Given the description of an element on the screen output the (x, y) to click on. 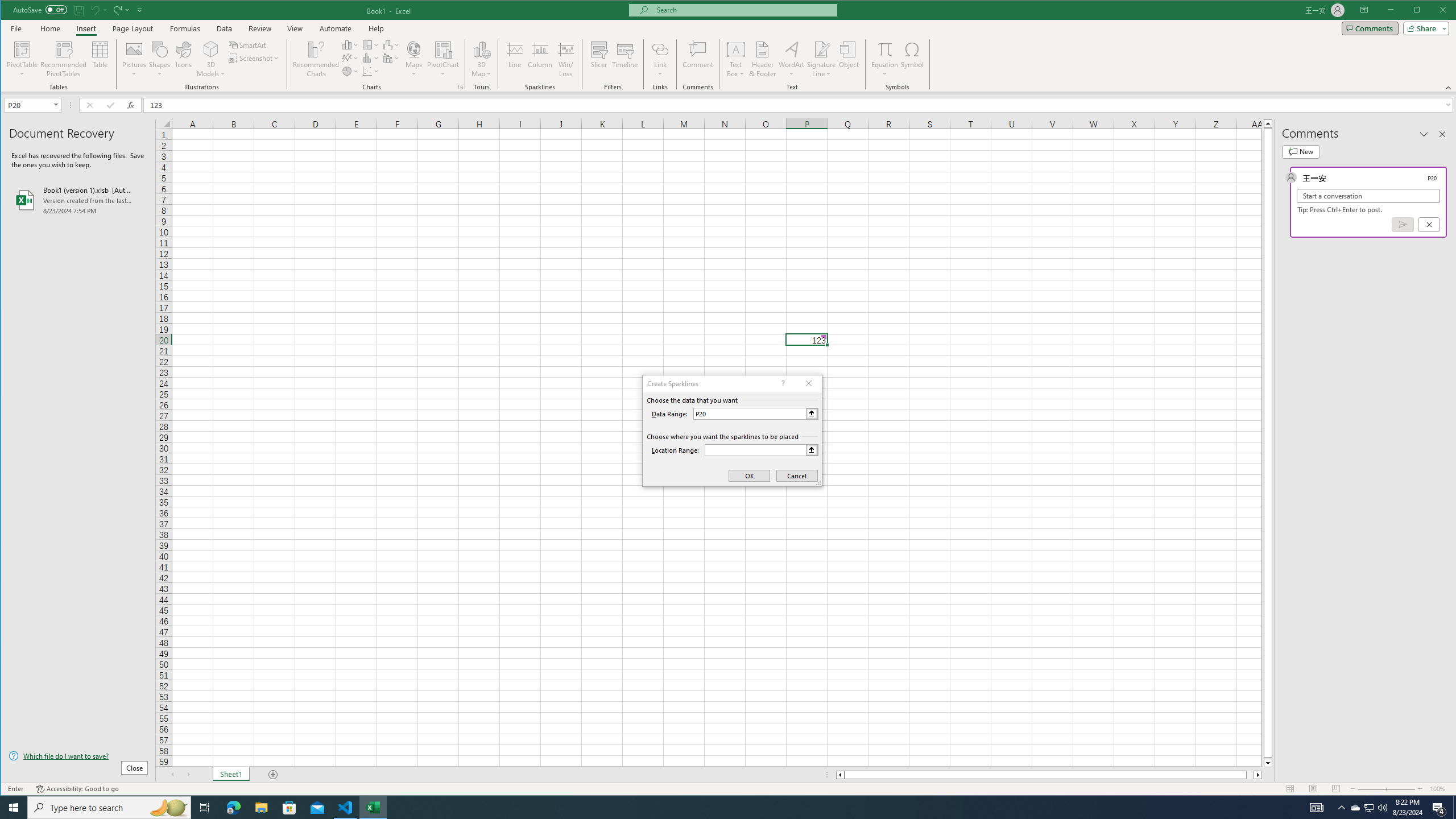
Insert Waterfall, Funnel, Stock, Surface, or Radar Chart (391, 44)
Maximize (1432, 11)
Signature Line (821, 59)
3D Models (211, 59)
Insert Combo Chart (391, 57)
Slicer... (598, 59)
